Given the description of an element on the screen output the (x, y) to click on. 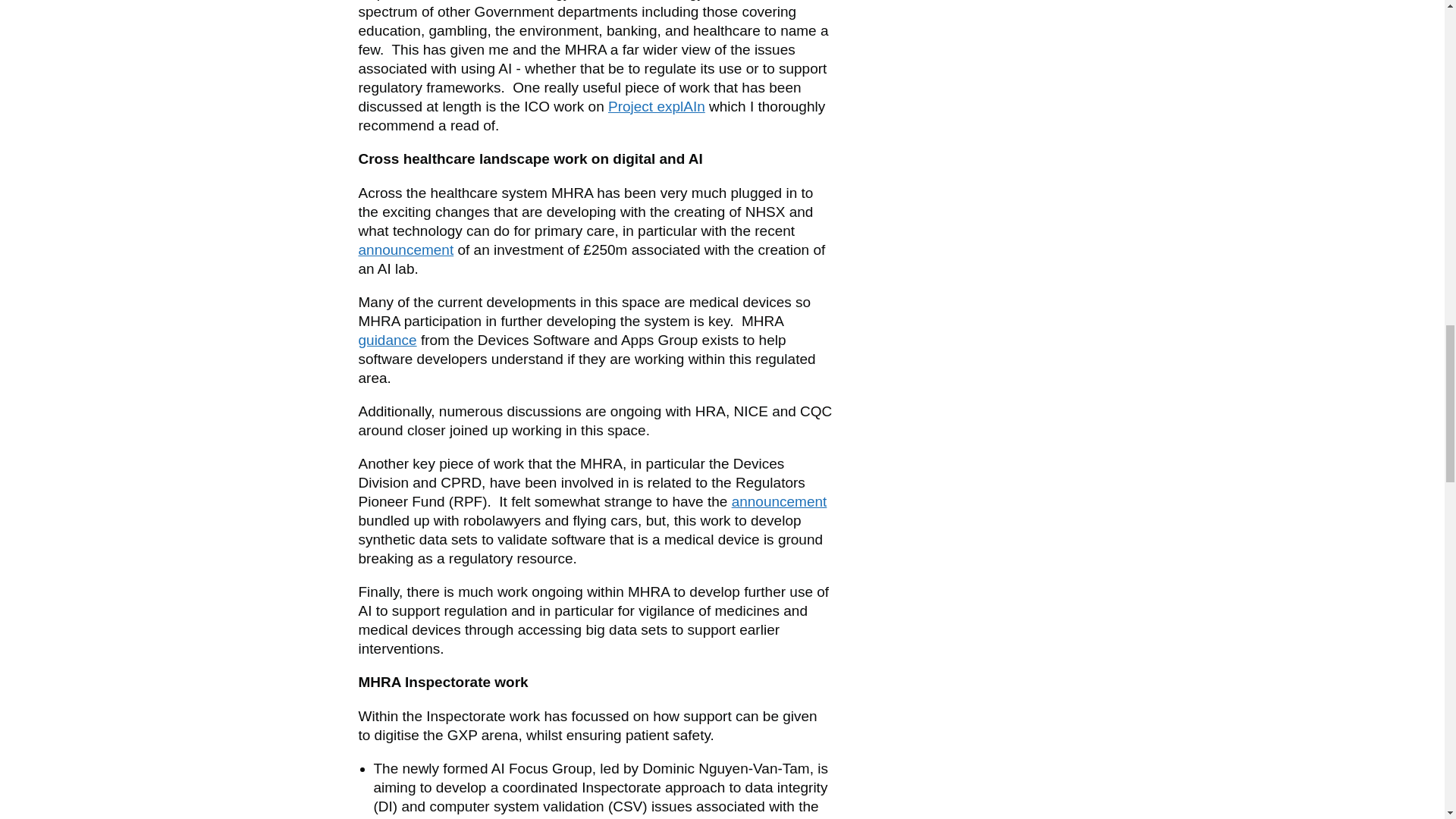
Project explAIn (656, 106)
announcement (405, 249)
guidance (387, 340)
announcement (779, 501)
